Given the description of an element on the screen output the (x, y) to click on. 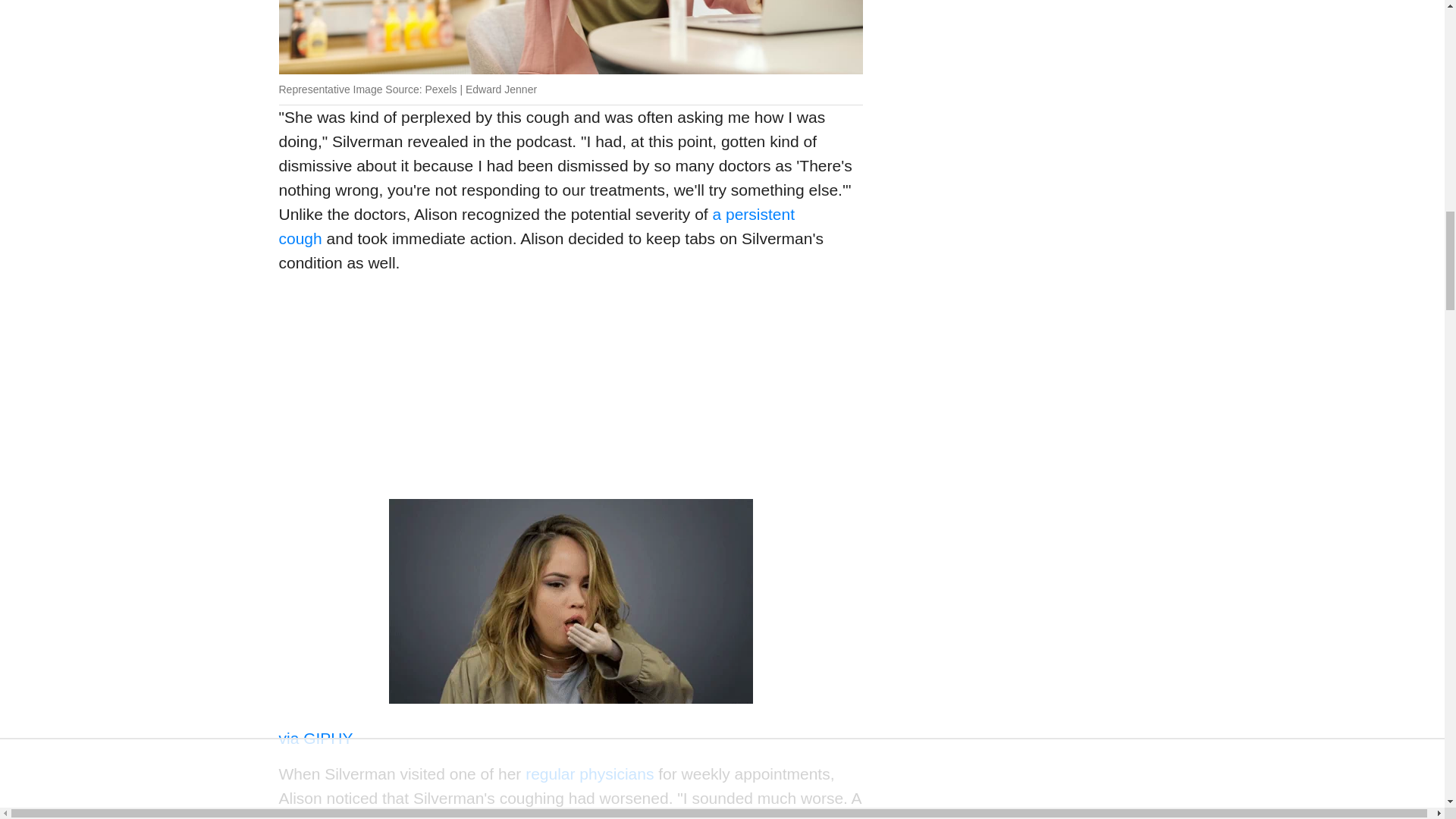
a persistent cough (536, 226)
regular physicians (589, 773)
via GIPHY (316, 737)
